Given the description of an element on the screen output the (x, y) to click on. 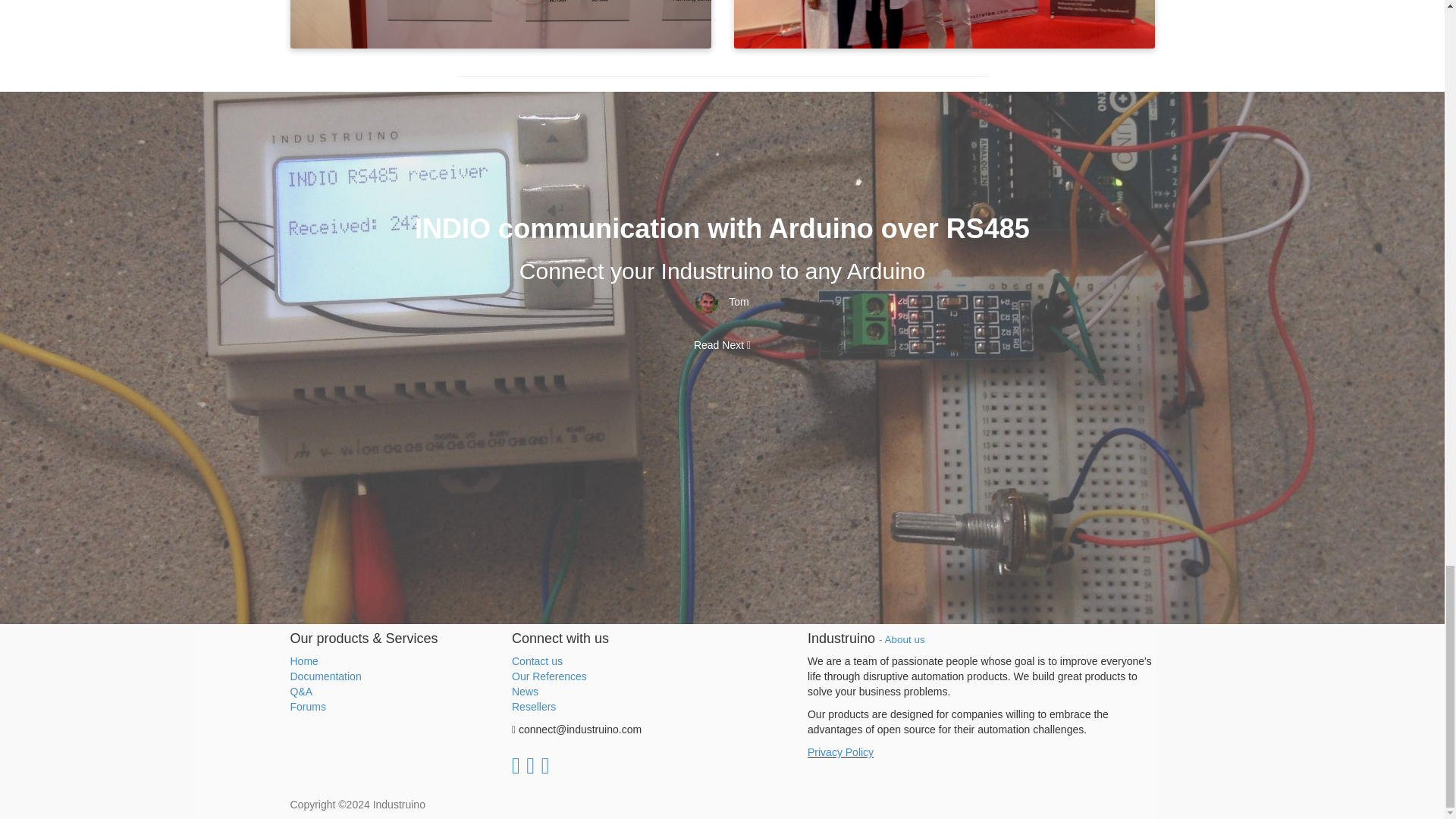
Our References (549, 676)
Forums (306, 706)
News (525, 691)
Documentation (325, 676)
Contact us (537, 661)
Home (303, 661)
Resellers (534, 706)
